Given the description of an element on the screen output the (x, y) to click on. 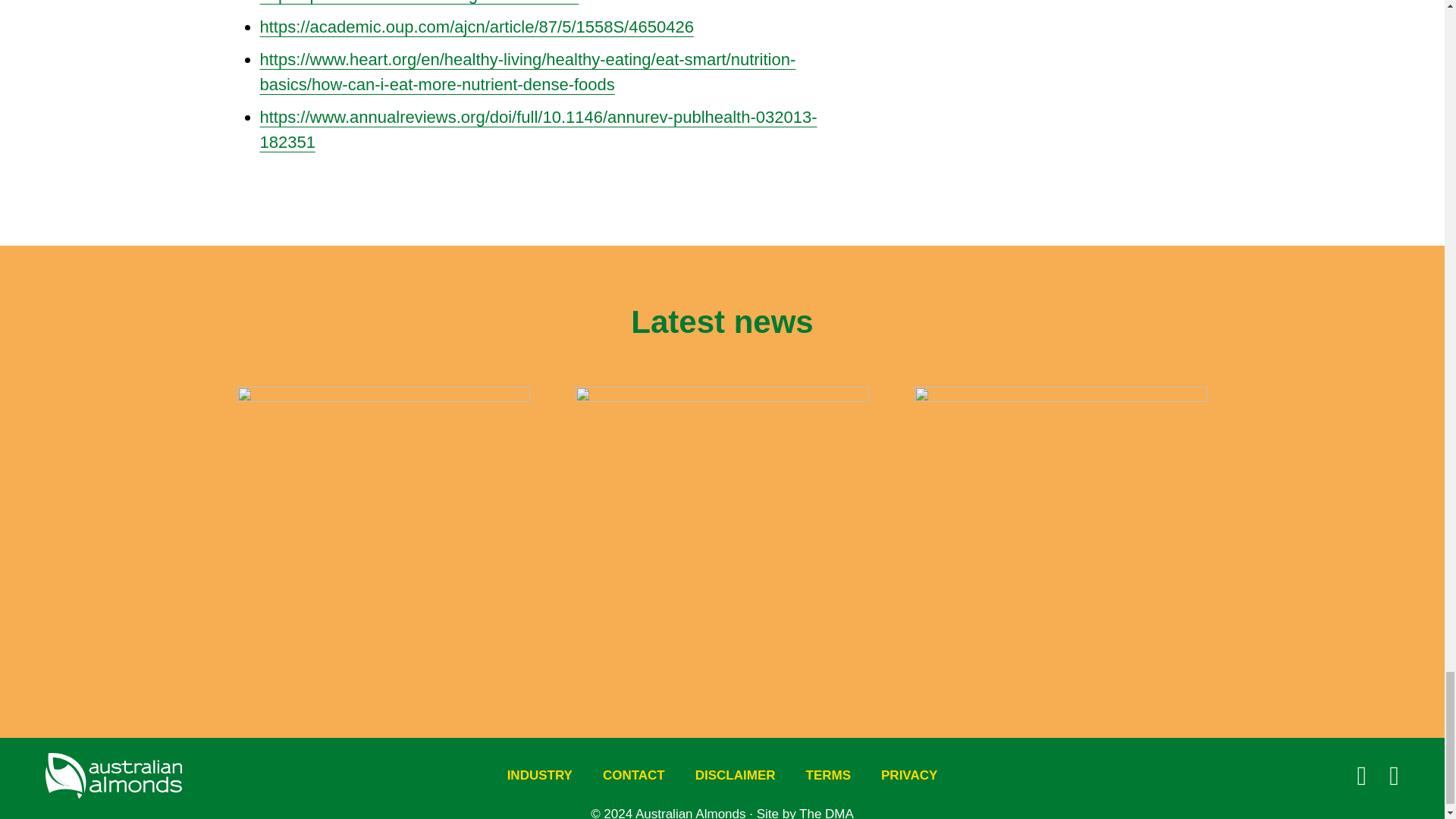
TERMS (828, 775)
INDUSTRY (540, 775)
CONTACT (633, 775)
The DMA (826, 812)
Australian Almonds On World Stage (722, 529)
DISCLAIMER (734, 775)
aba-logo-horizontal-white-2021 (113, 775)
National Heart Health Week with Australian Almonds (382, 529)
PRIVACY (909, 775)
